Given the description of an element on the screen output the (x, y) to click on. 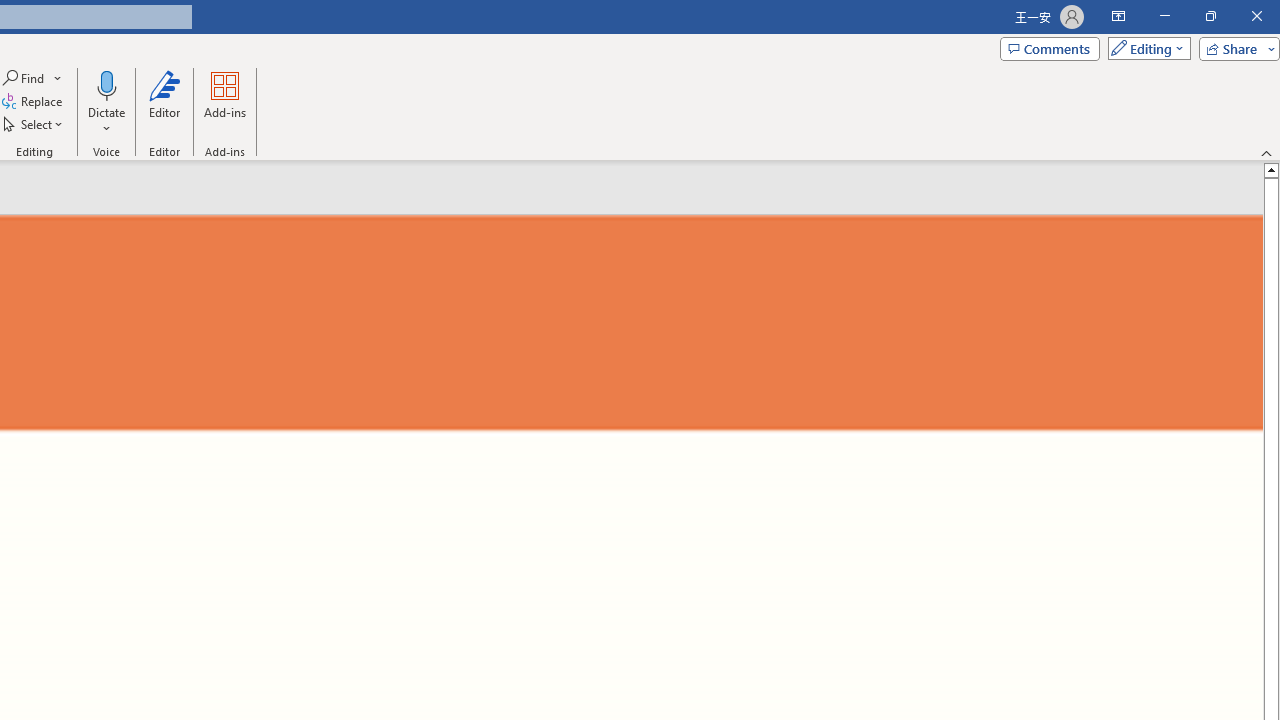
Editing (1144, 47)
